Given the description of an element on the screen output the (x, y) to click on. 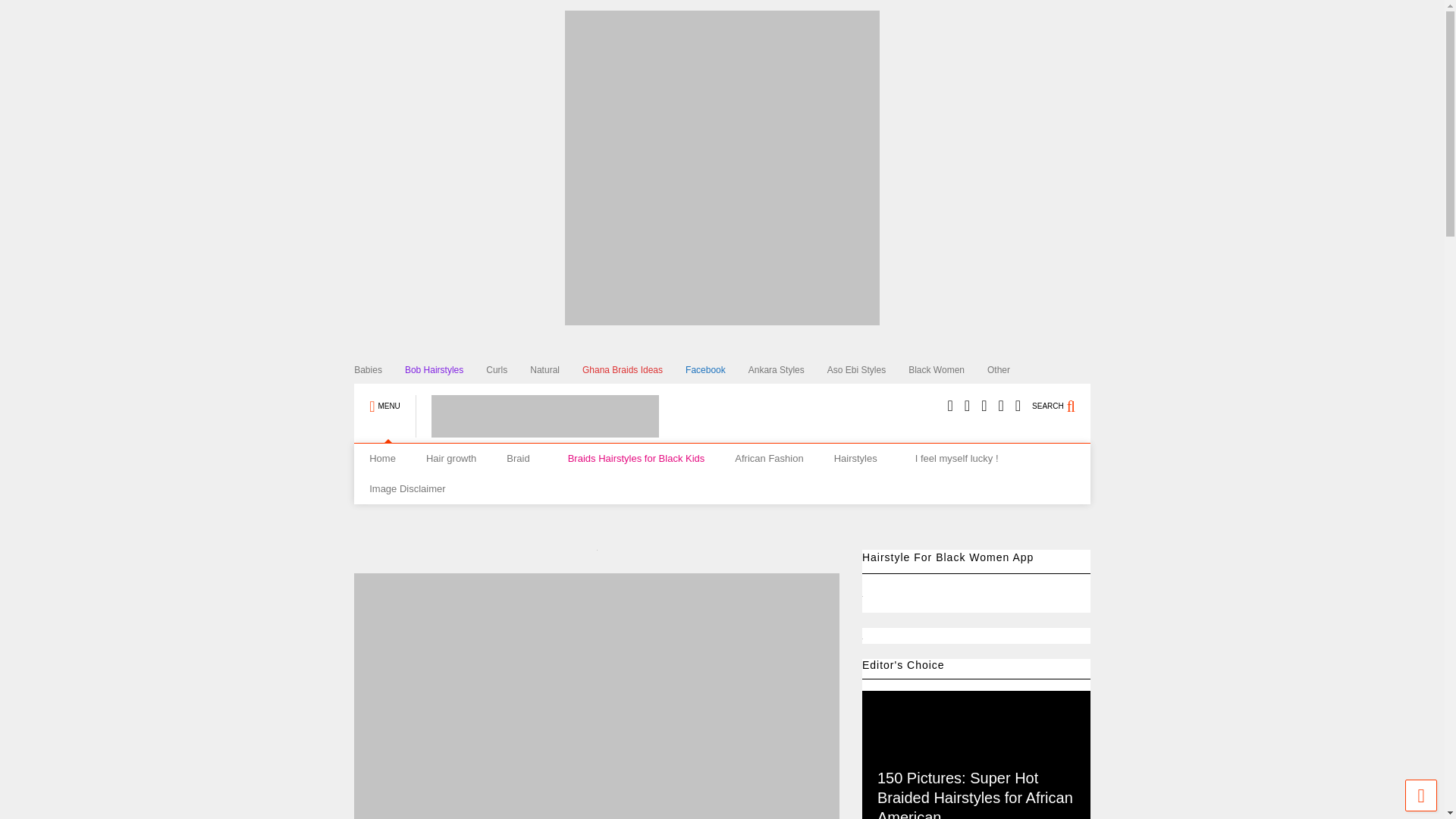
Other (1009, 370)
Ankara Styles (787, 370)
Hair growth (451, 458)
Braids Hairstyles for Black Kids (636, 458)
Natural (555, 370)
Home (381, 458)
Curls (507, 370)
Aso Ebi Styles (867, 370)
SEARCH (1061, 399)
Hairstyle For Women (536, 430)
